Given the description of an element on the screen output the (x, y) to click on. 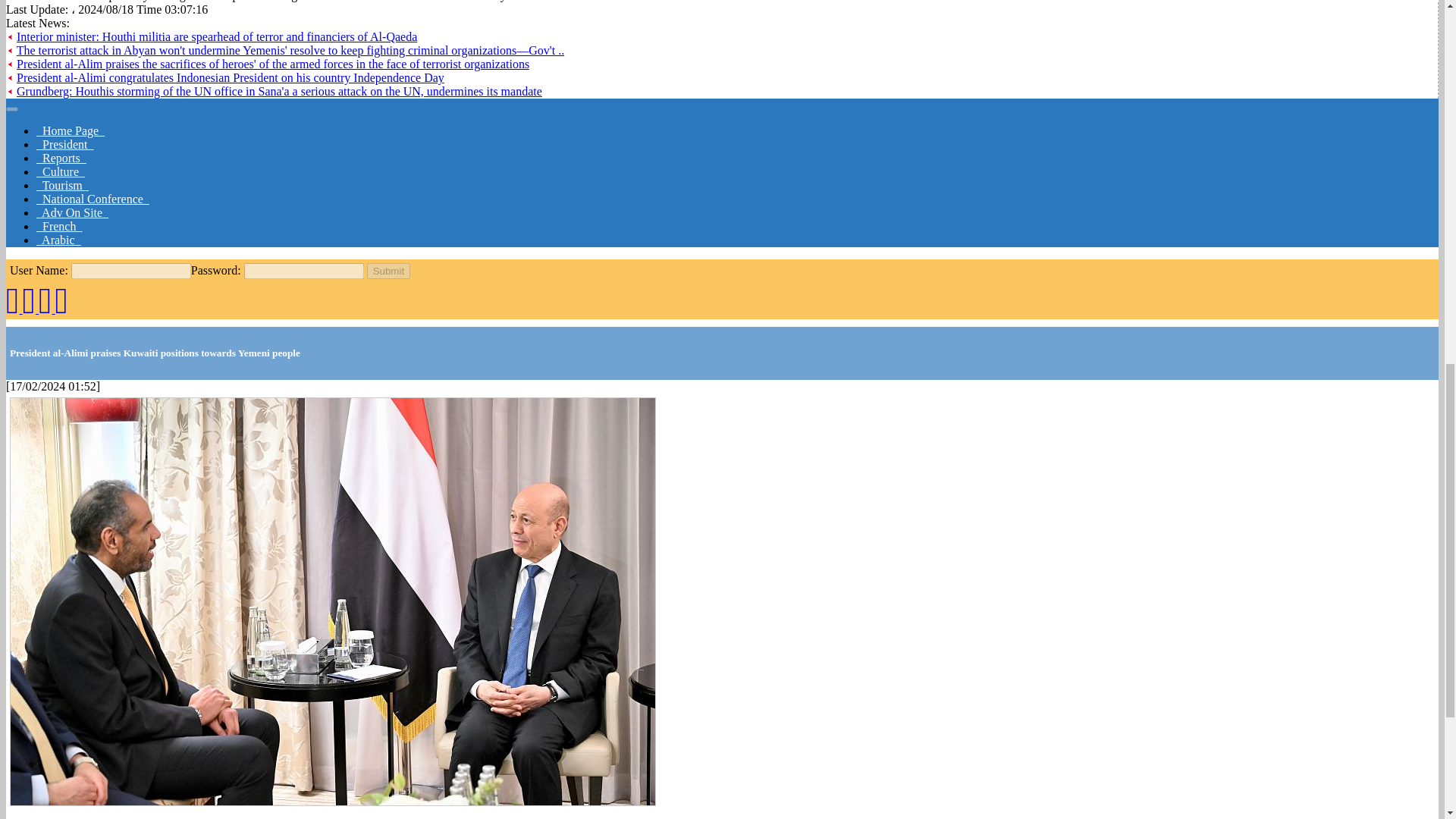
  National Conference   (92, 198)
  Home Page   (70, 130)
Submit (388, 270)
  Culture   (60, 171)
  Arabic   (58, 239)
  President   (65, 144)
  Tourism   (62, 185)
